Given the description of an element on the screen output the (x, y) to click on. 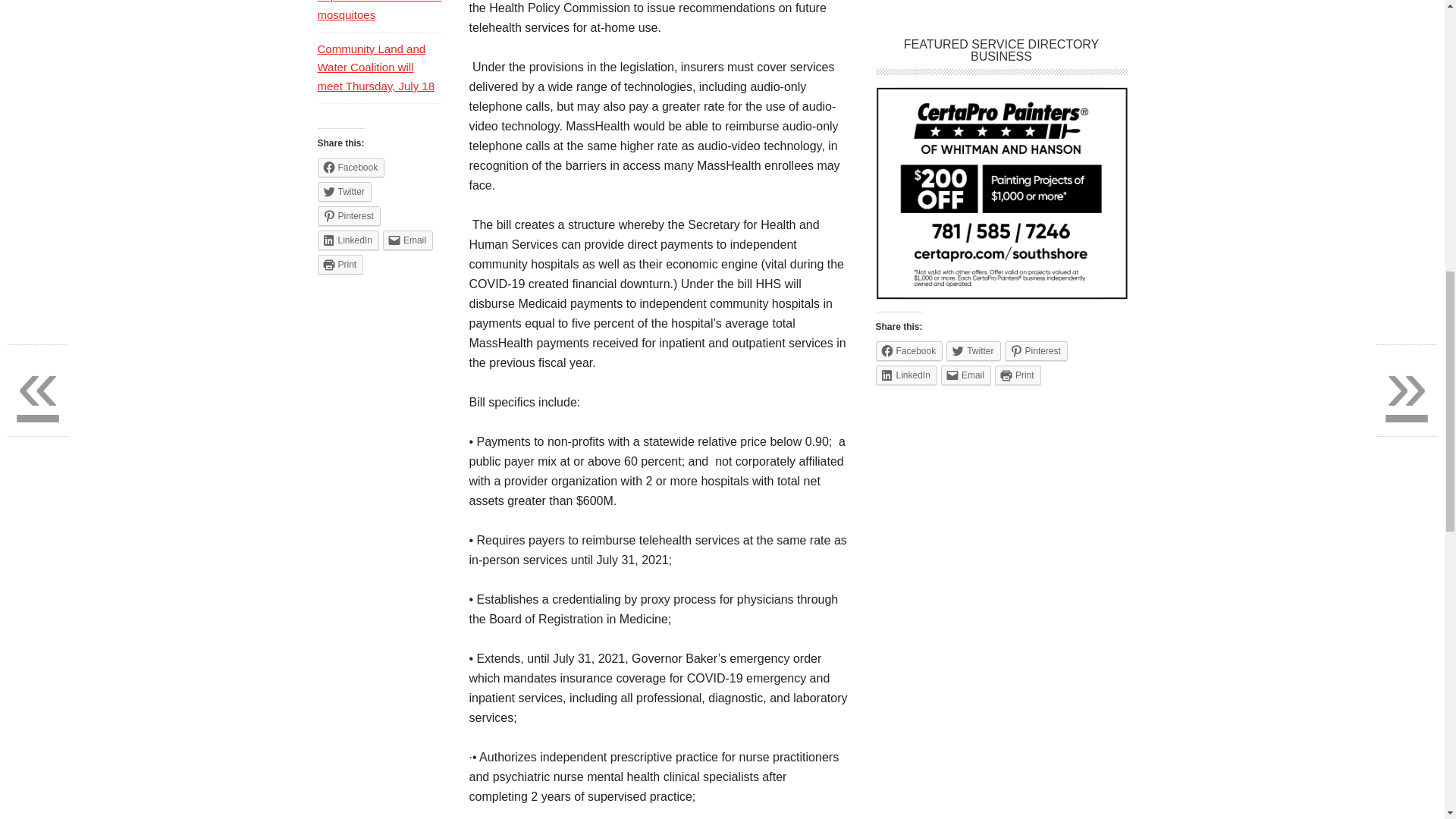
Click to share on LinkedIn (347, 240)
Click to share on Pinterest (1035, 351)
Click to share on Twitter (973, 351)
Click to share on Pinterest (348, 216)
Twitter (973, 351)
Click to share on Twitter (344, 191)
Print (1017, 374)
Facebook (908, 351)
Click to email a link to a friend (407, 240)
Click to share on Facebook (350, 167)
Click to email a link to a friend (965, 374)
Click to share on LinkedIn (905, 374)
LinkedIn (905, 374)
Email (965, 374)
Click to print (1017, 374)
